Given the description of an element on the screen output the (x, y) to click on. 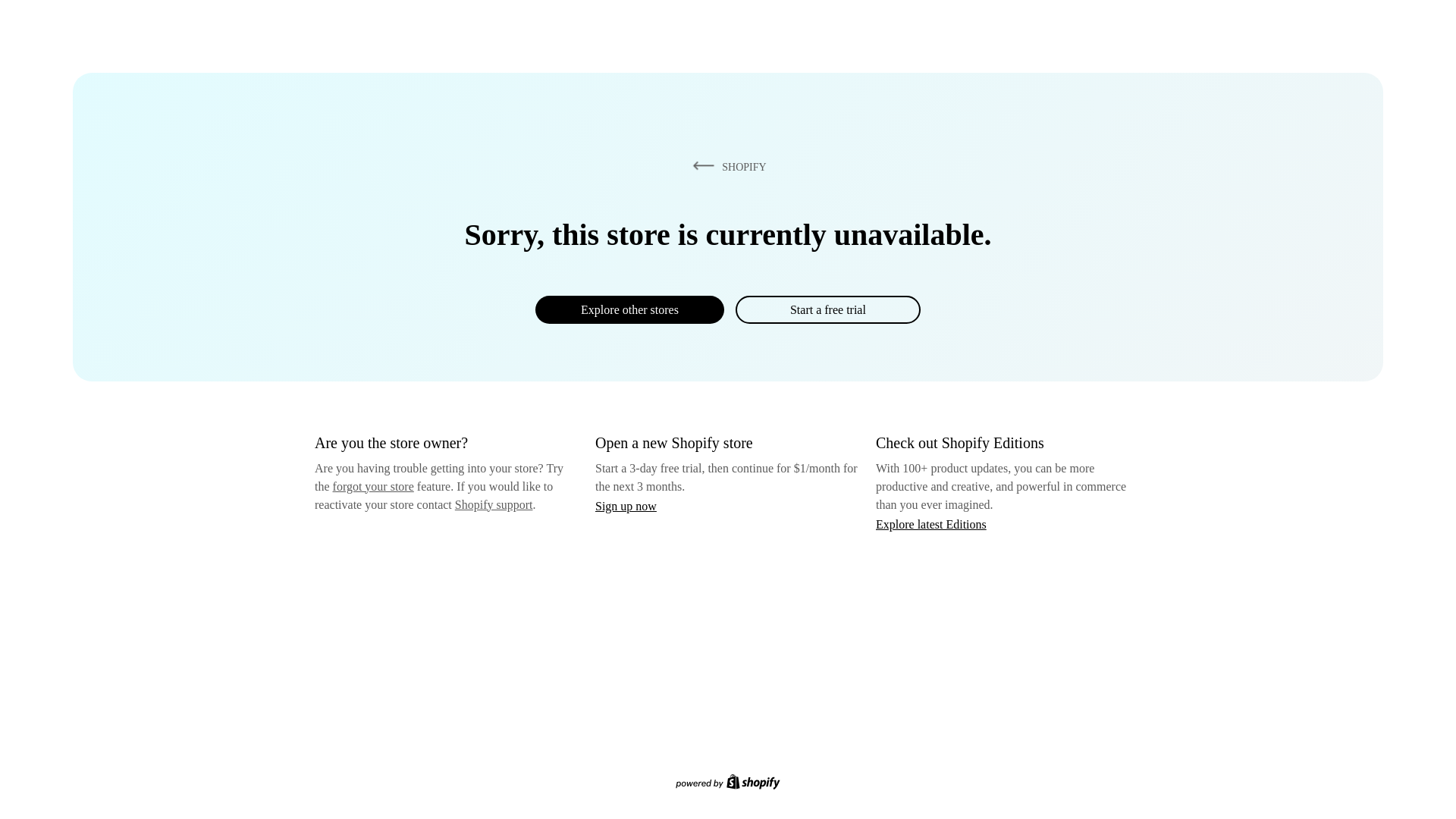
Shopify support (493, 504)
Explore latest Editions (931, 523)
Explore other stores (629, 309)
Start a free trial (827, 309)
forgot your store (373, 486)
Sign up now (625, 505)
SHOPIFY (726, 166)
